Given the description of an element on the screen output the (x, y) to click on. 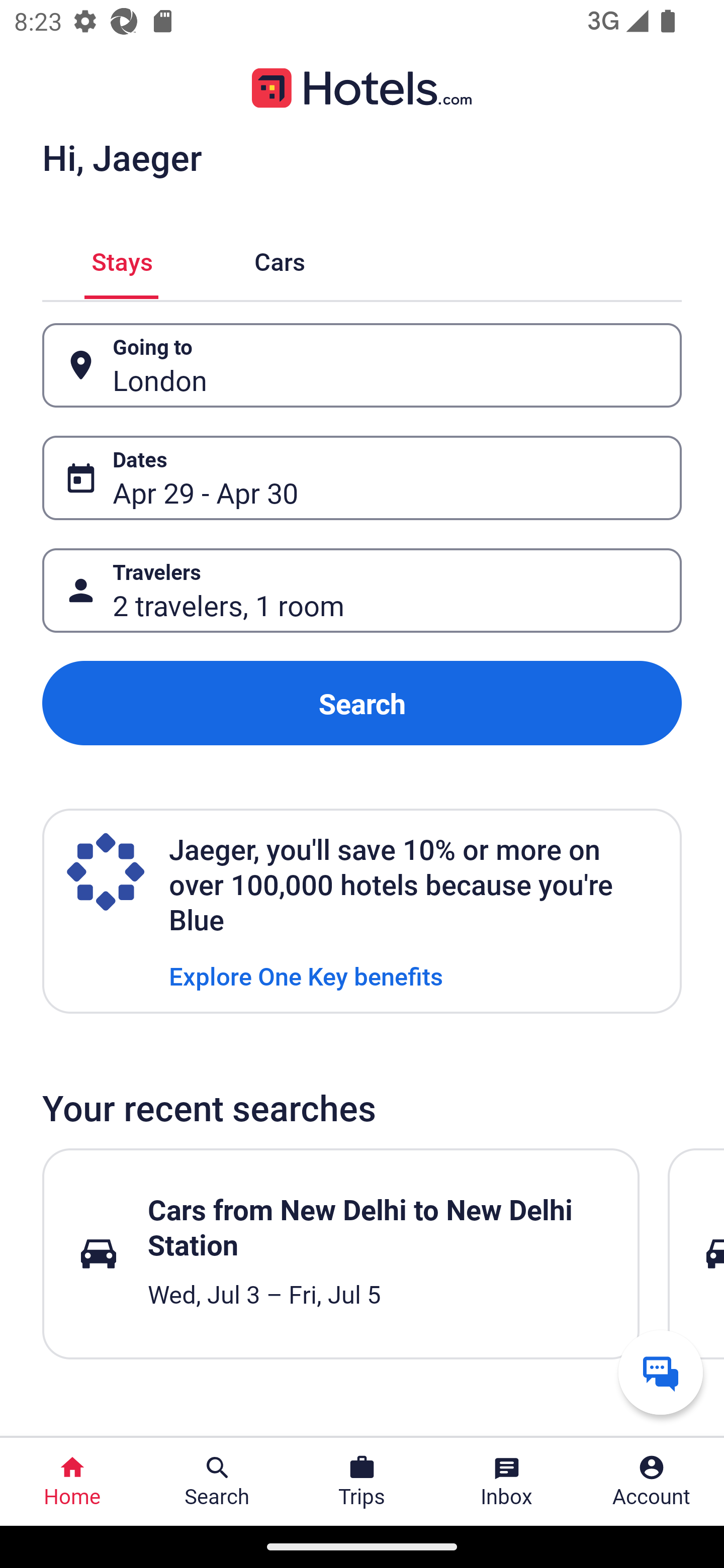
Hi, Jaeger (121, 156)
Cars (279, 259)
Going to Button London (361, 365)
Dates Button Apr 29 - Apr 30 (361, 477)
Travelers Button 2 travelers, 1 room (361, 590)
Search (361, 702)
Get help from a virtual agent (660, 1371)
Search Search Button (216, 1481)
Trips Trips Button (361, 1481)
Inbox Inbox Button (506, 1481)
Account Profile. Button (651, 1481)
